Given the description of an element on the screen output the (x, y) to click on. 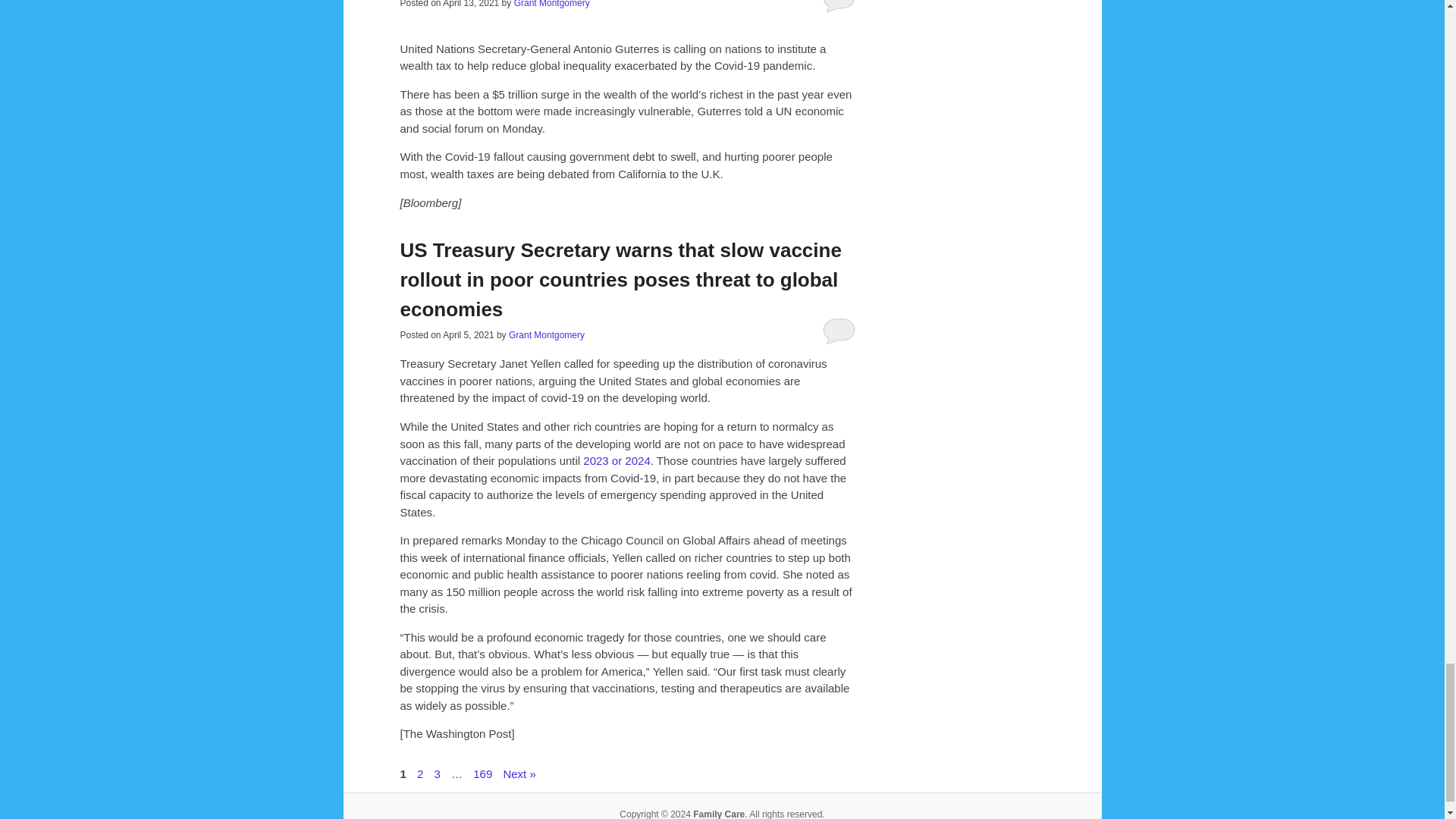
Posts by Grant Montgomery (551, 4)
Grant Montgomery (551, 4)
Grant Montgomery (546, 335)
